Given the description of an element on the screen output the (x, y) to click on. 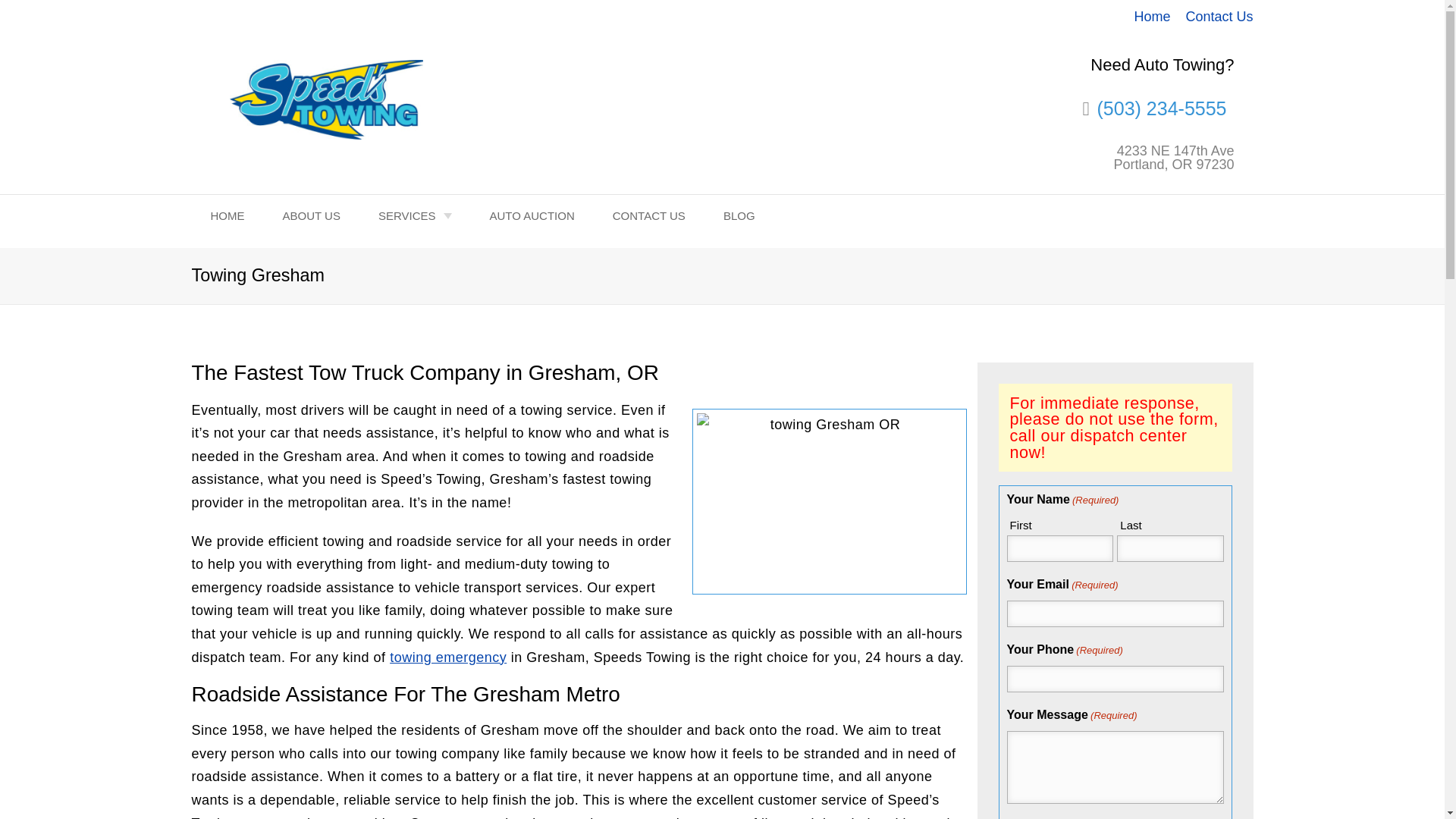
HOME (226, 215)
SERVICES (414, 215)
CONTACT US (649, 215)
Contact Us (1218, 16)
ABOUT US (311, 215)
Home (1152, 16)
towing emergency (448, 657)
BLOG (739, 215)
24 Hour Towing Gresham (448, 657)
AUTO AUCTION (531, 215)
